Given the description of an element on the screen output the (x, y) to click on. 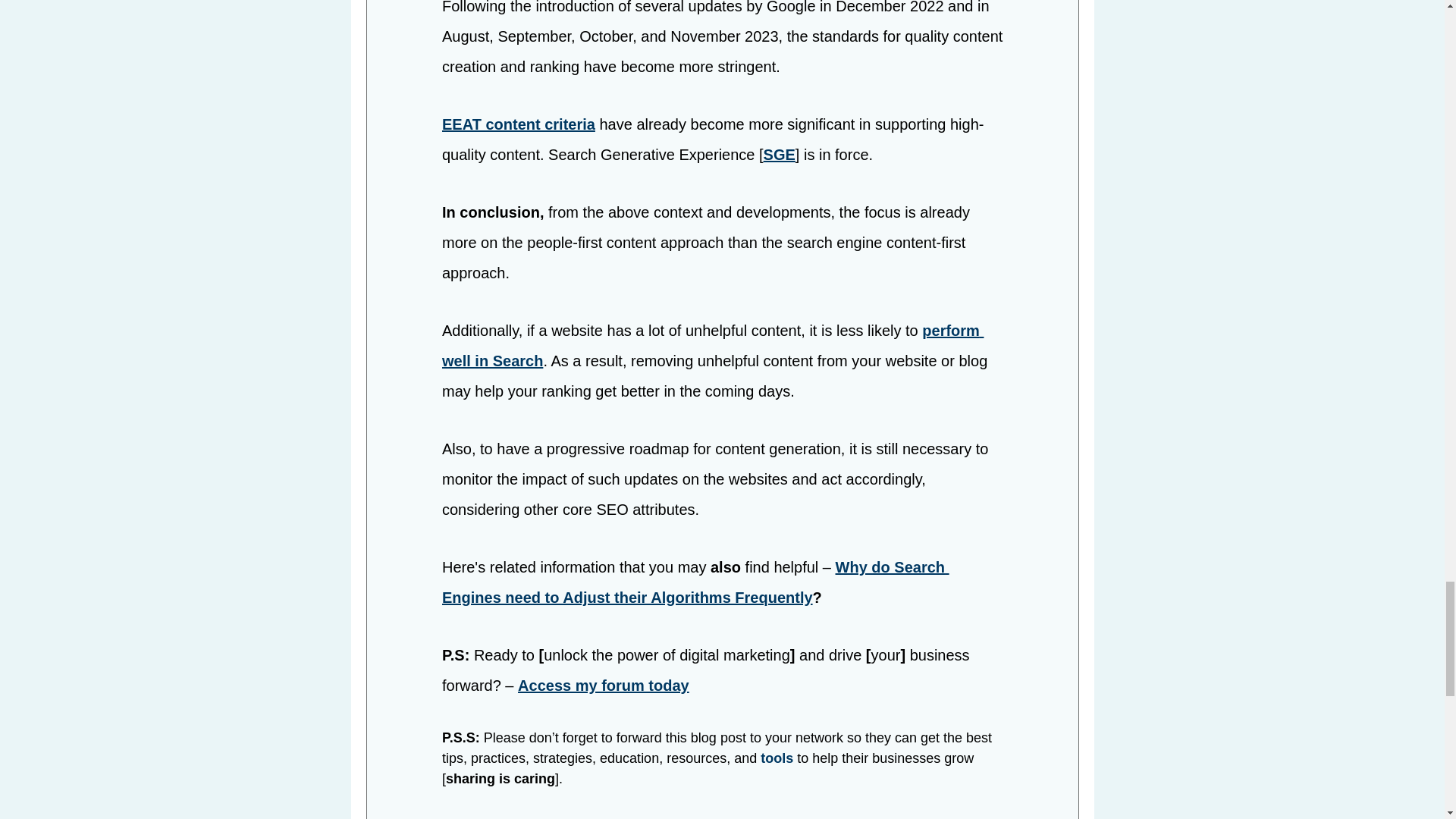
EEAT content criteria (517, 124)
SGE (778, 155)
perform well in Search (711, 346)
Access my forum today (603, 685)
tools (776, 758)
